Given the description of an element on the screen output the (x, y) to click on. 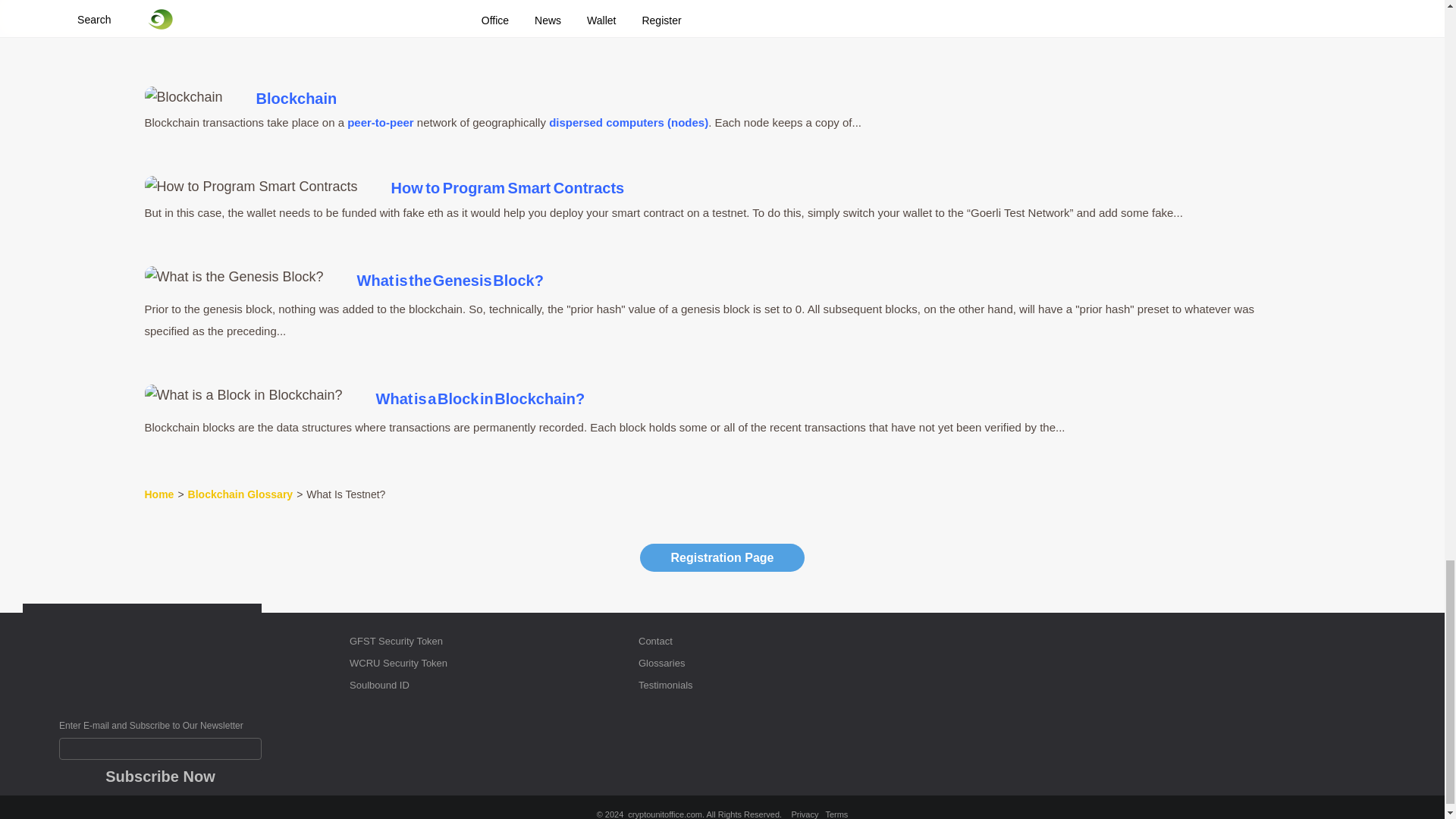
What is a Block in Blockchain? (243, 394)
What is the Genesis Block? (233, 276)
What Is Mainnet? (200, 29)
Blockchain (183, 96)
How to Program Smart Contracts (250, 186)
